Given the description of an element on the screen output the (x, y) to click on. 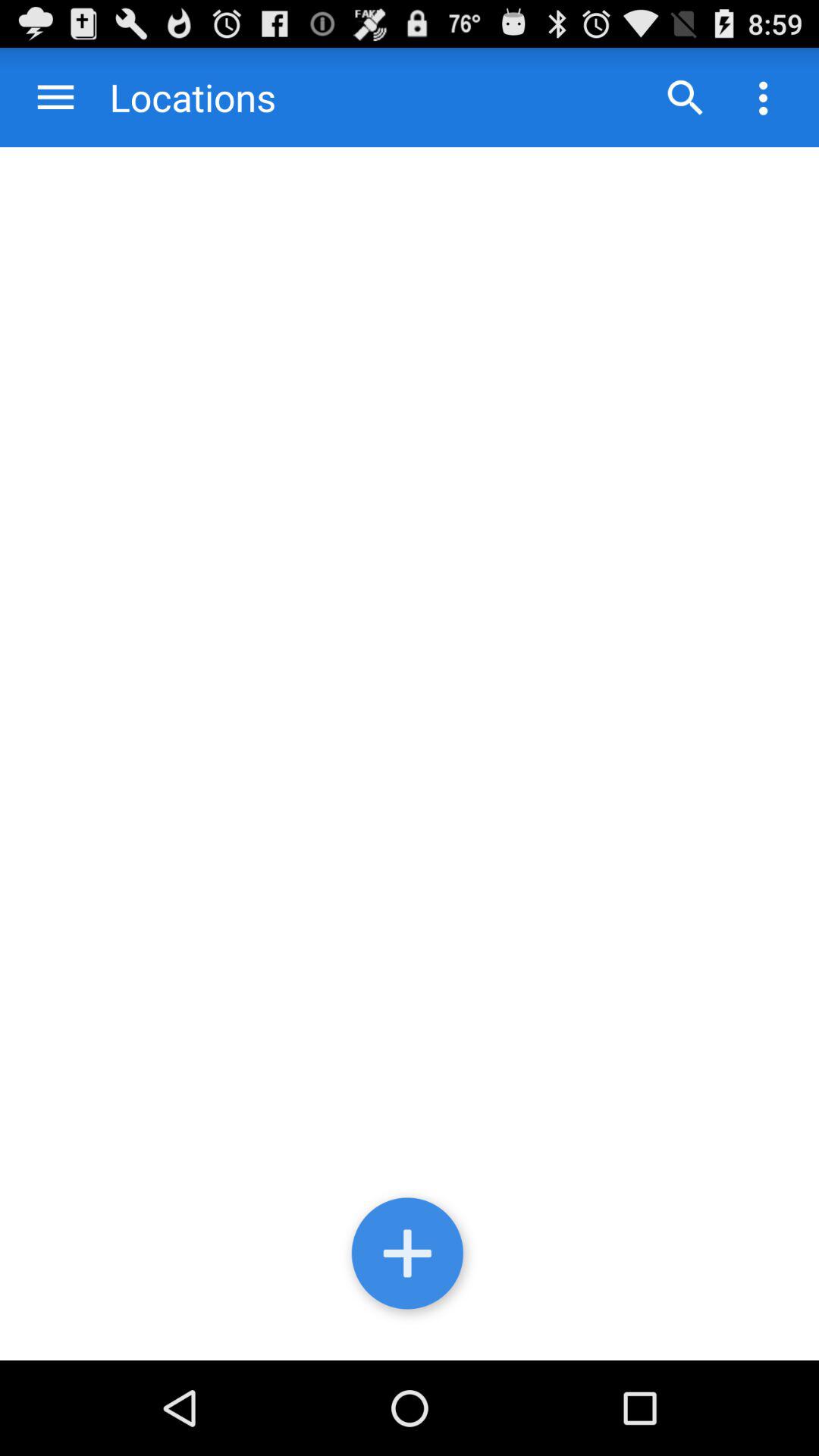
open option menu (763, 97)
